Given the description of an element on the screen output the (x, y) to click on. 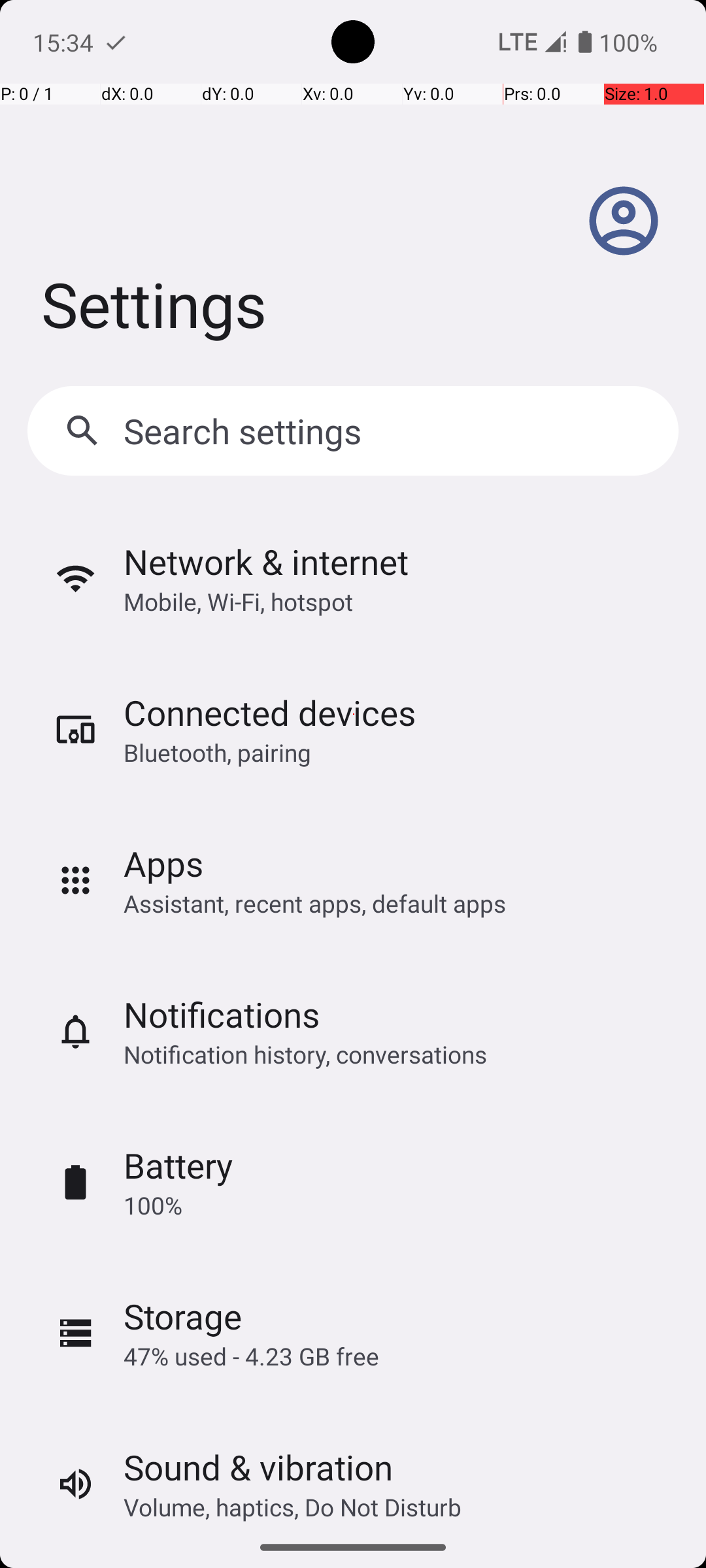
47% used - 4.23 GB free Element type: android.widget.TextView (251, 1355)
